Given the description of an element on the screen output the (x, y) to click on. 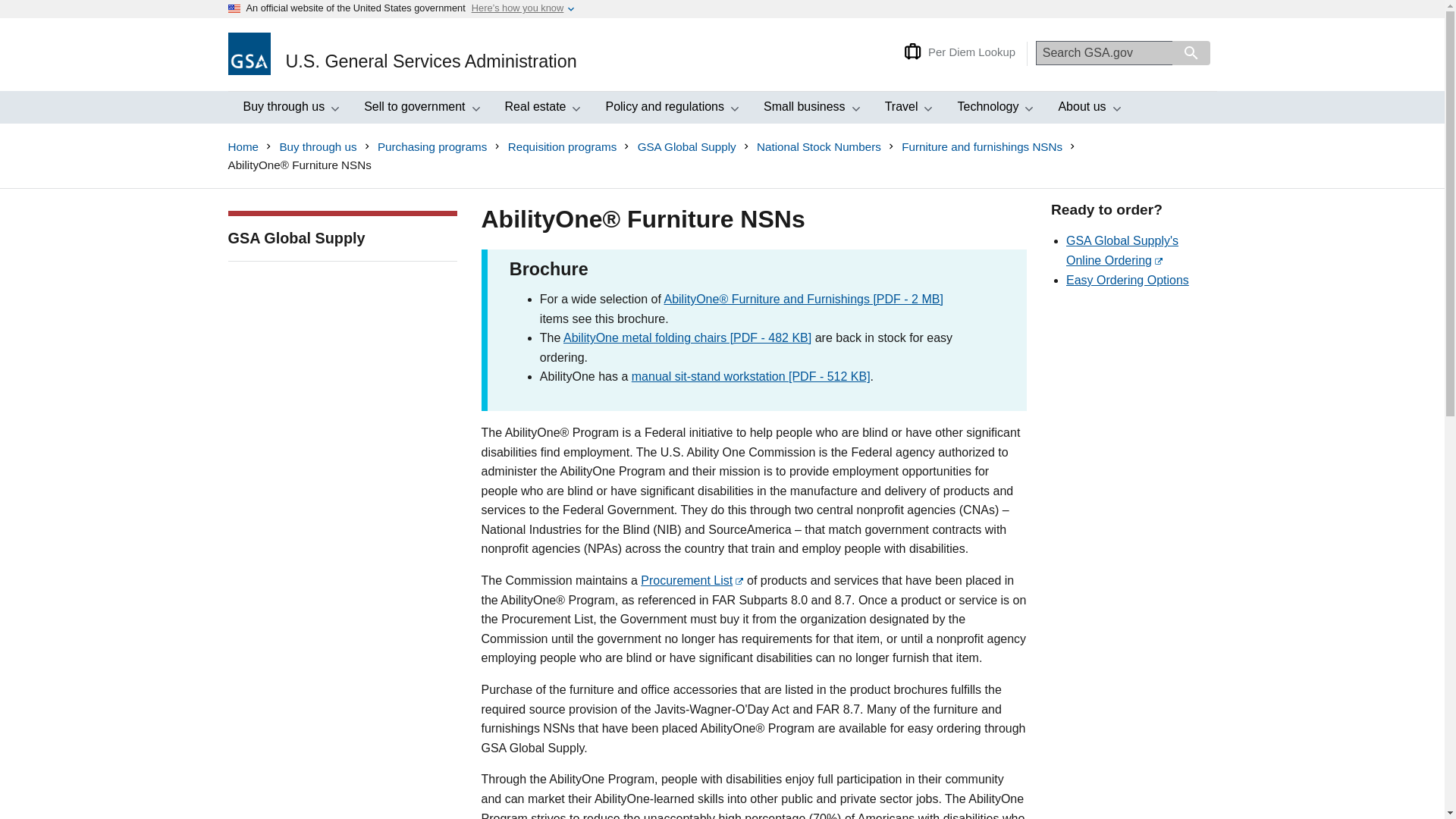
Skip to main content (11, 16)
U.S. General Services Administration (401, 54)
